Given the description of an element on the screen output the (x, y) to click on. 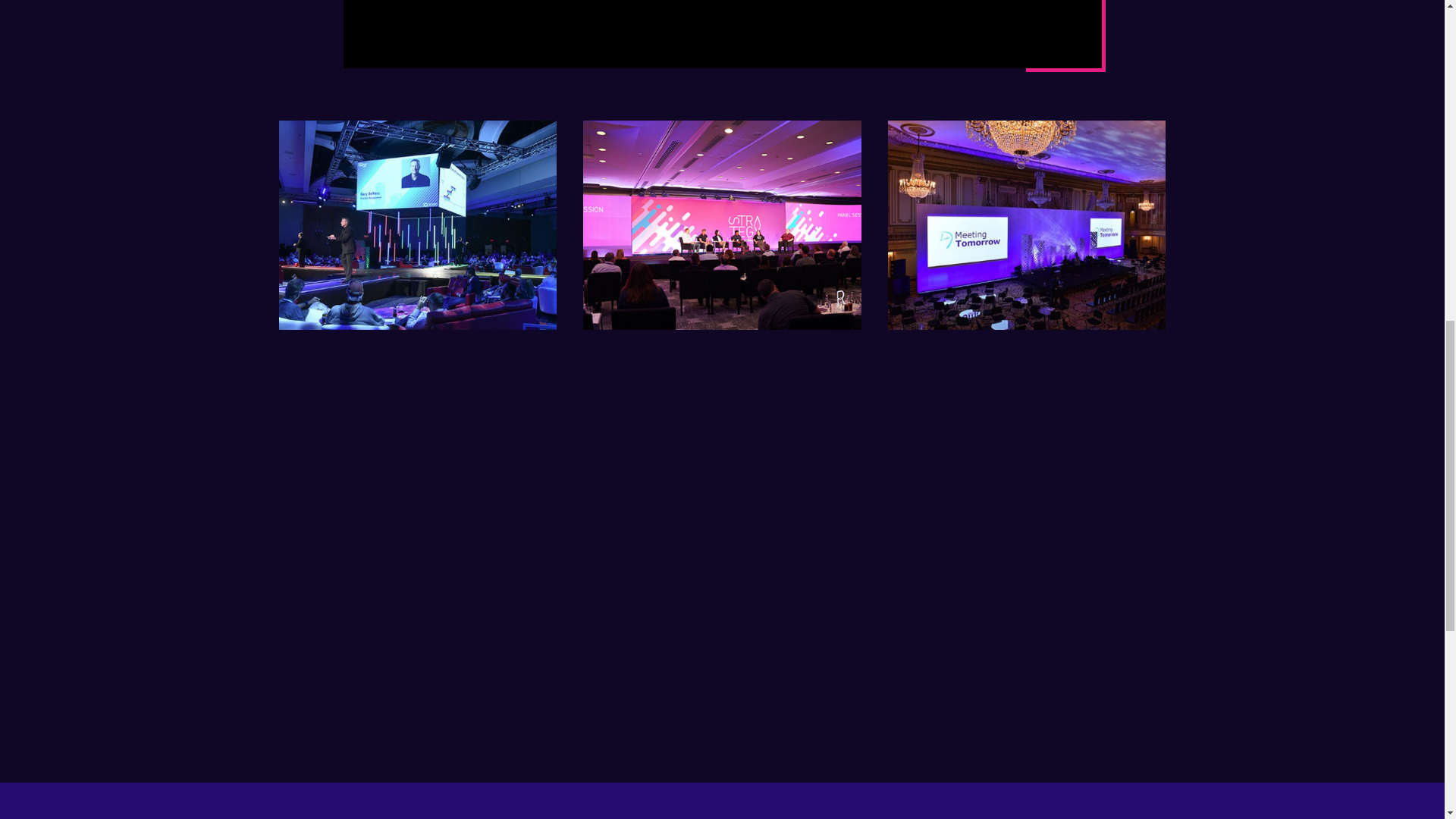
c (1027, 225)
a (418, 225)
b (722, 225)
